Given the description of an element on the screen output the (x, y) to click on. 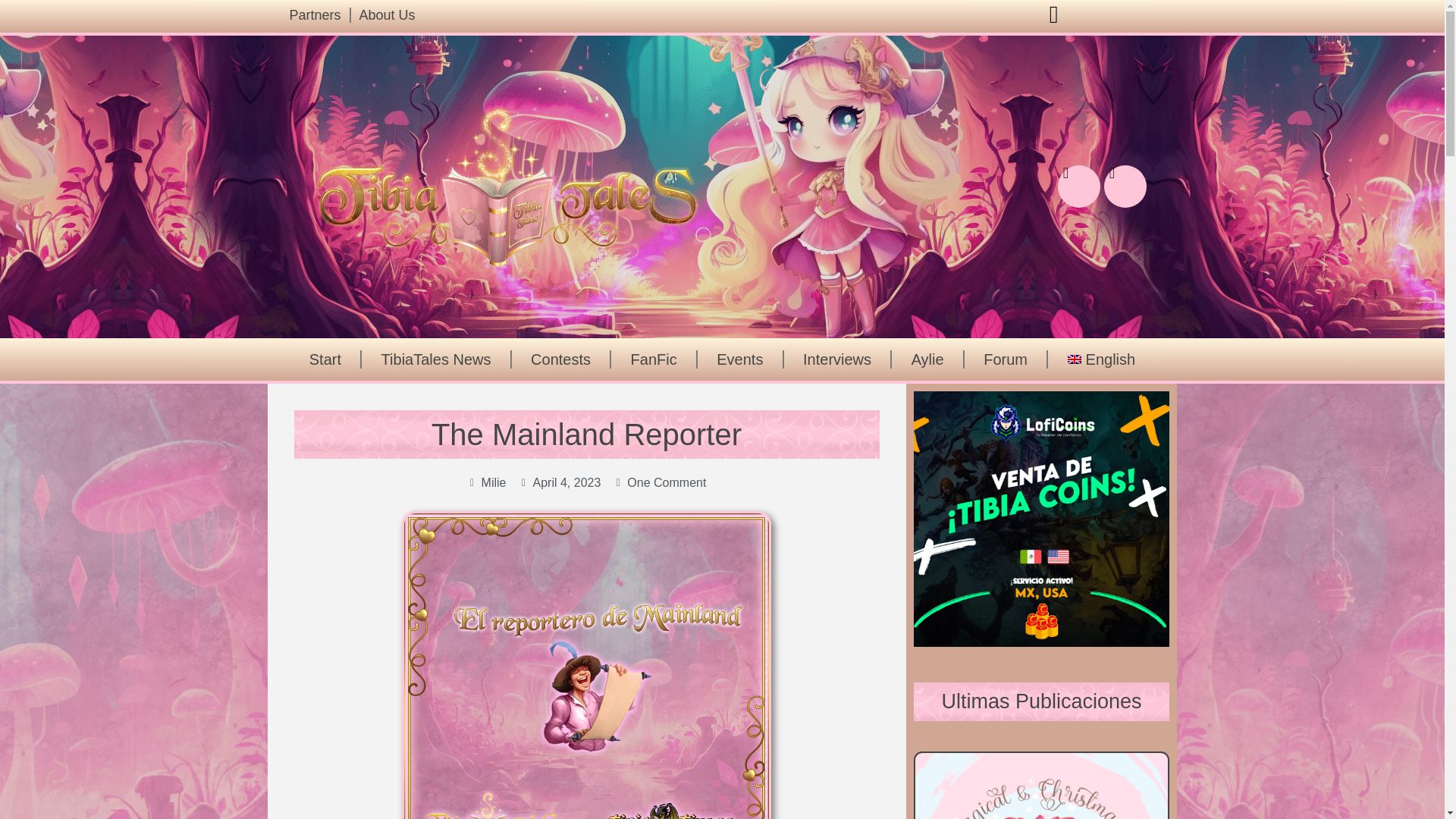
Forum (1004, 359)
FanFic (653, 359)
Contests (561, 359)
Partners (315, 18)
Events (740, 359)
Aylie (926, 359)
About Us (386, 18)
English (1101, 359)
One Comment (659, 482)
Start (324, 359)
